Given the description of an element on the screen output the (x, y) to click on. 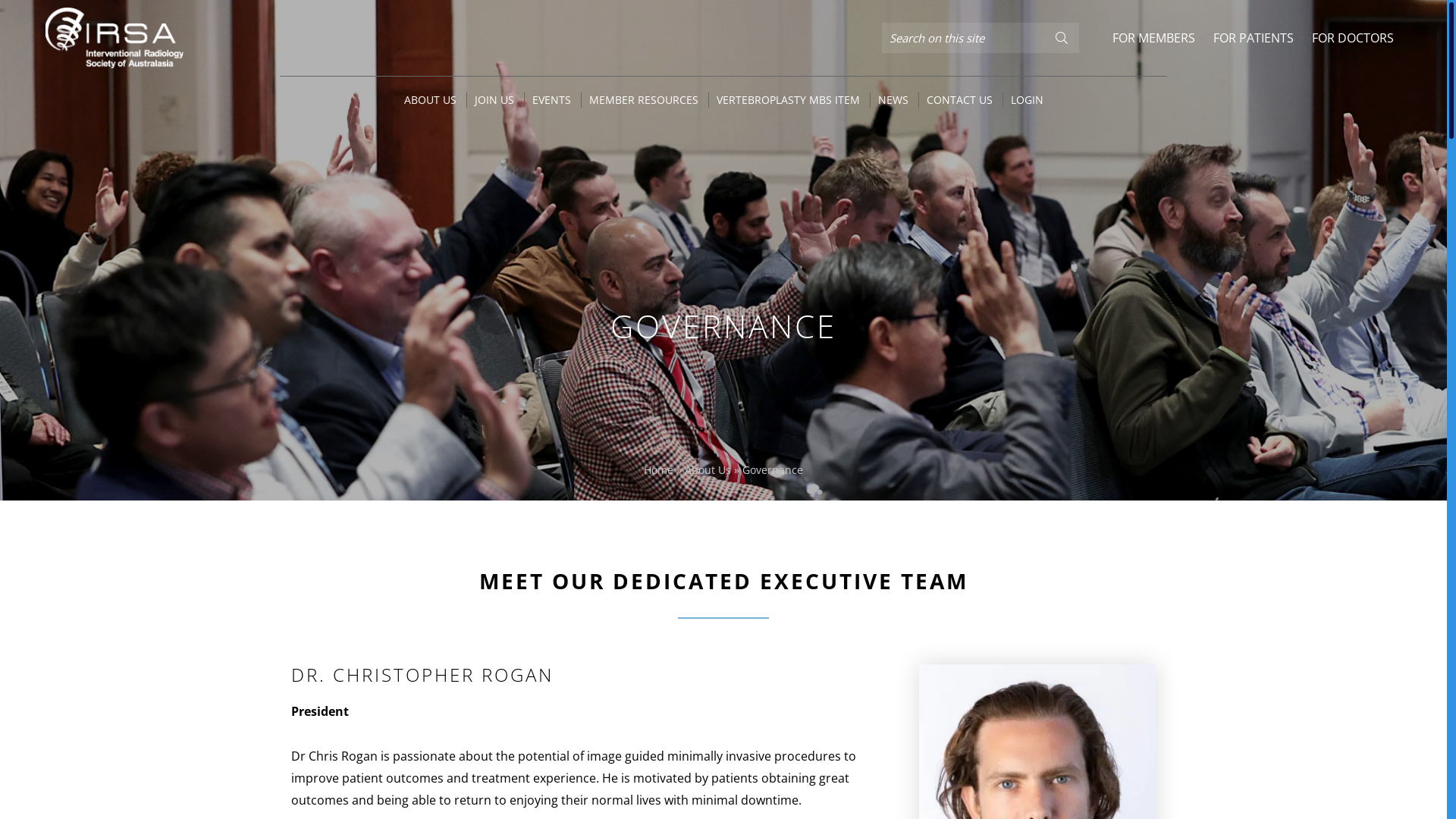
Home Element type: text (658, 469)
About Us Element type: text (707, 469)
EVENTS Element type: text (551, 99)
JOIN US Element type: text (494, 99)
ABOUT US Element type: text (429, 99)
FOR DOCTORS Element type: text (1352, 37)
CONTACT US Element type: text (959, 99)
LOGIN Element type: text (1026, 99)
NEWS Element type: text (893, 99)
FOR MEMBERS Element type: text (1153, 37)
VERTEBROPLASTY MBS ITEM Element type: text (787, 99)
MEMBER RESOURCES Element type: text (642, 99)
FOR PATIENTS Element type: text (1253, 37)
